Given the description of an element on the screen output the (x, y) to click on. 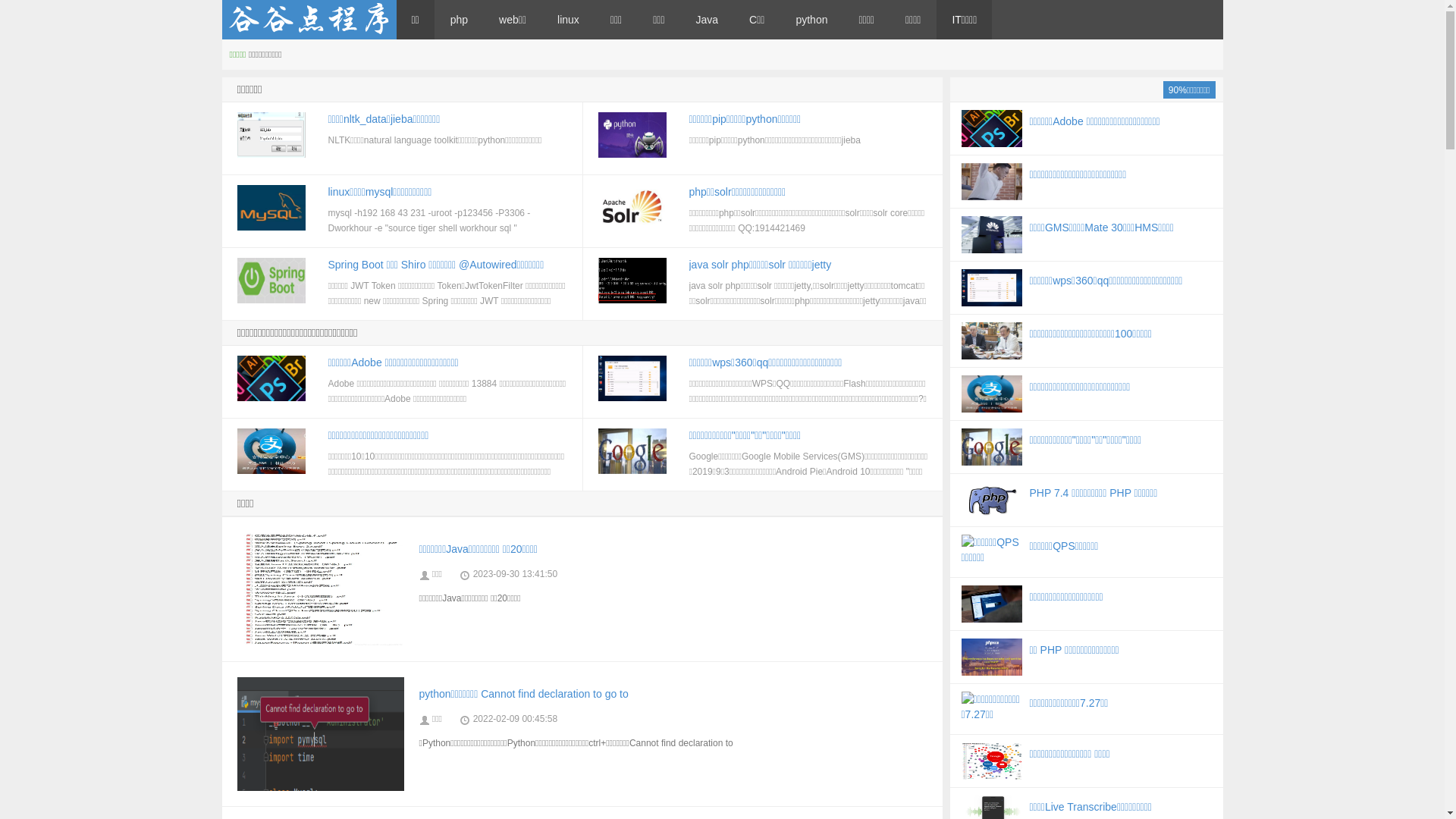
php Element type: text (459, 19)
Java Element type: text (707, 19)
python Element type: text (811, 19)
linux Element type: text (568, 19)
